Given the description of an element on the screen output the (x, y) to click on. 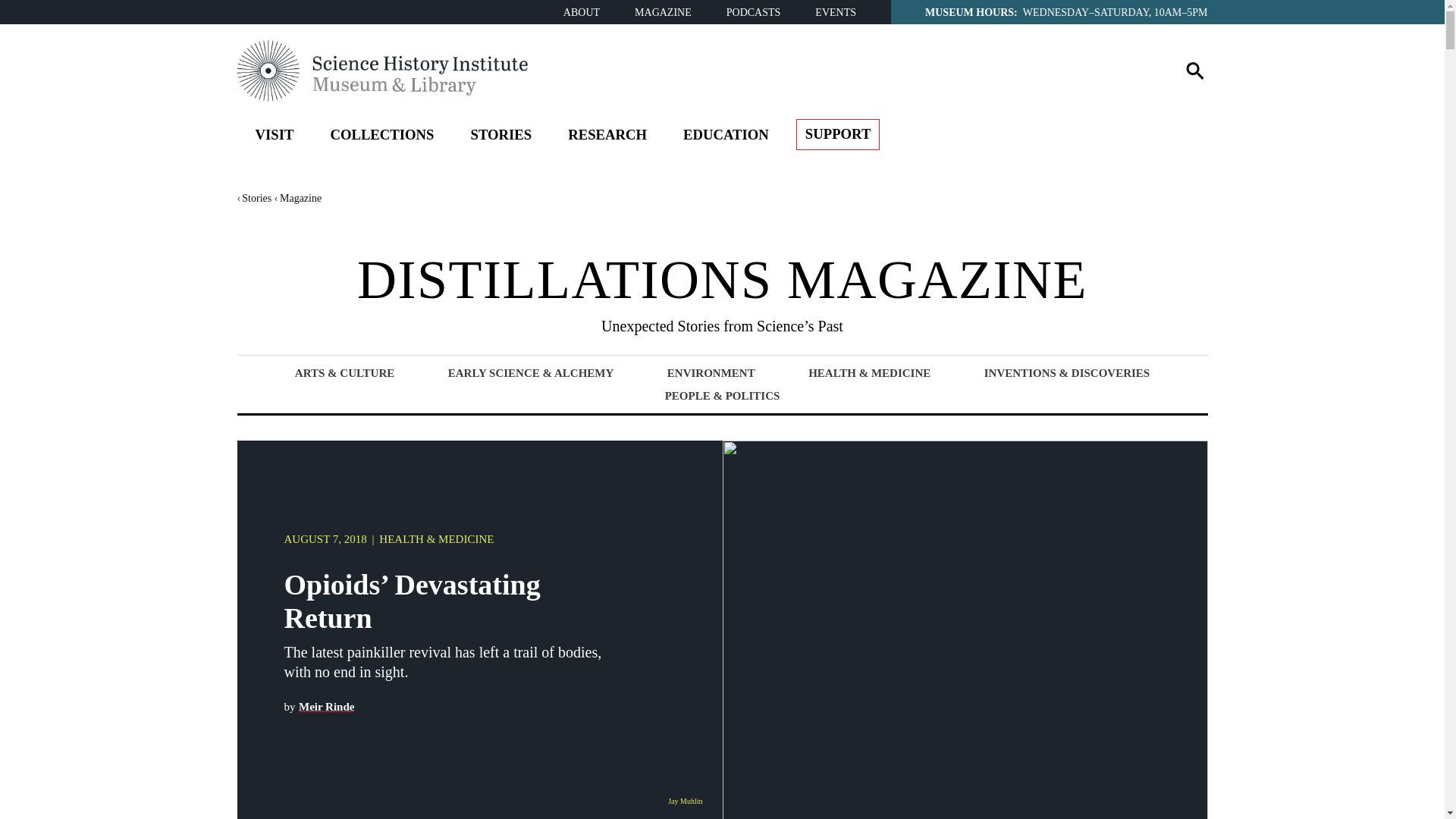
COLLECTIONS (381, 137)
EDUCATION (726, 137)
VISIT (274, 137)
ABOUT (581, 12)
STORIES (500, 137)
MUSEUM HOURS (968, 11)
RESEARCH (607, 137)
EVENTS (835, 12)
MAGAZINE (663, 12)
PODCASTS (753, 12)
